Given the description of an element on the screen output the (x, y) to click on. 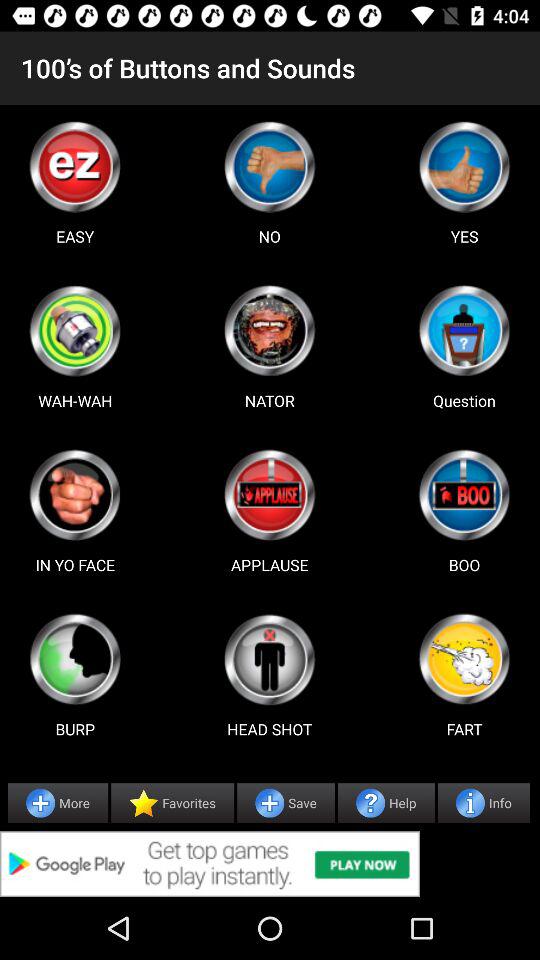
play sound (75, 659)
